Given the description of an element on the screen output the (x, y) to click on. 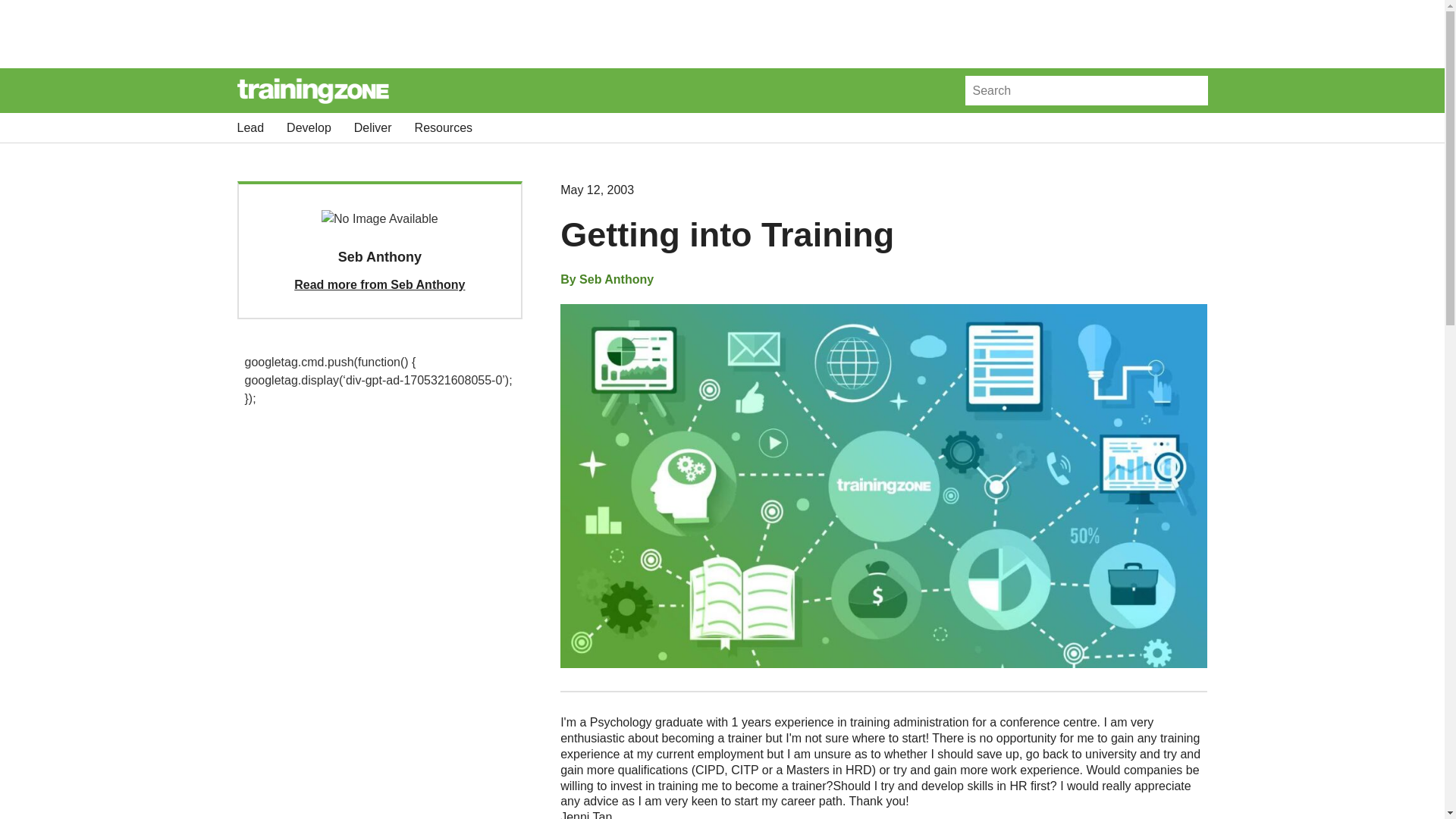
Read more from Seb Anthony (379, 284)
By Seb Anthony (606, 280)
Resources (442, 127)
Deliver (372, 127)
Develop (308, 127)
Lead (249, 127)
